Given the description of an element on the screen output the (x, y) to click on. 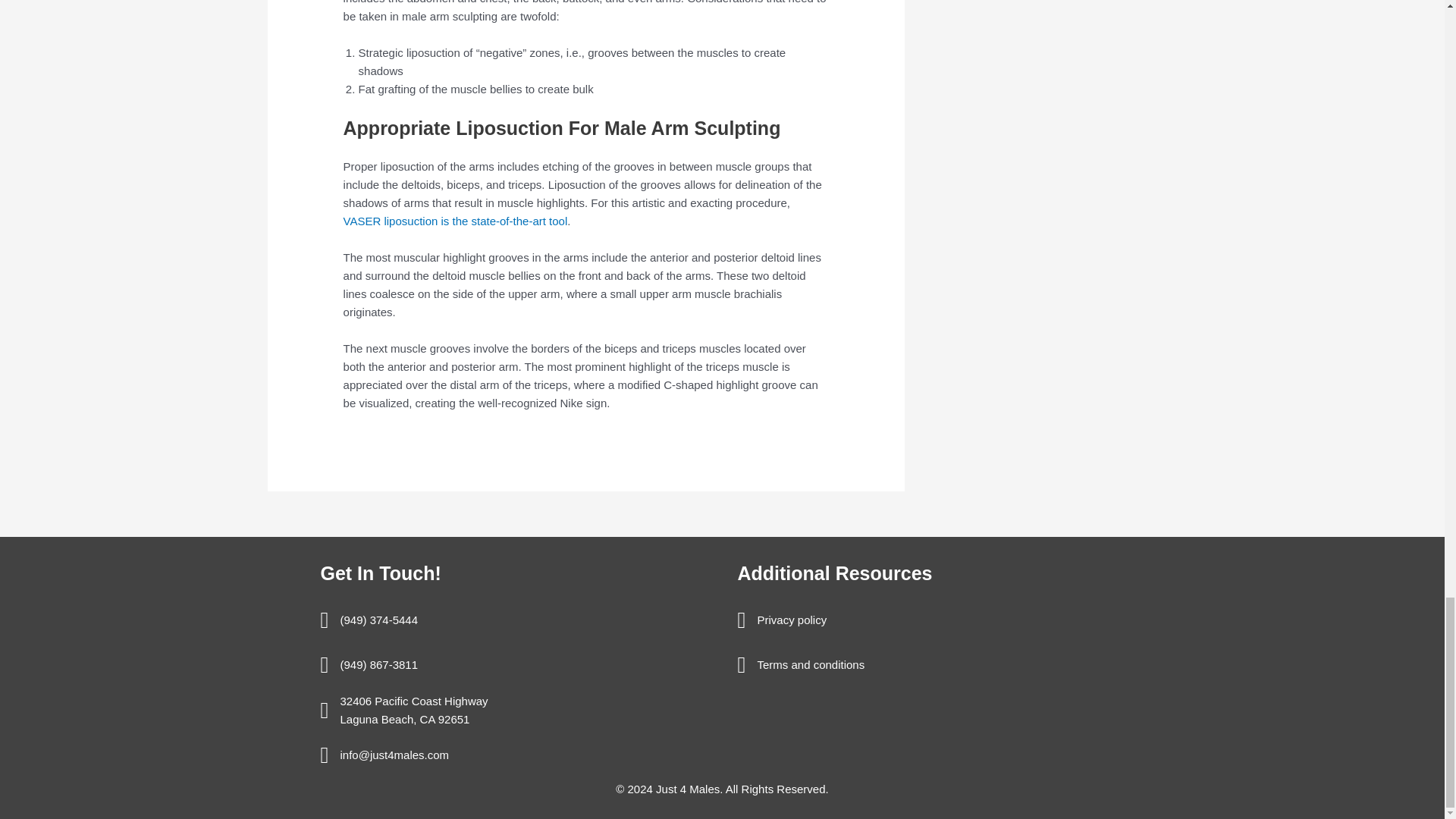
VASER liposuction is the state-of-the-art tool (455, 220)
